Given the description of an element on the screen output the (x, y) to click on. 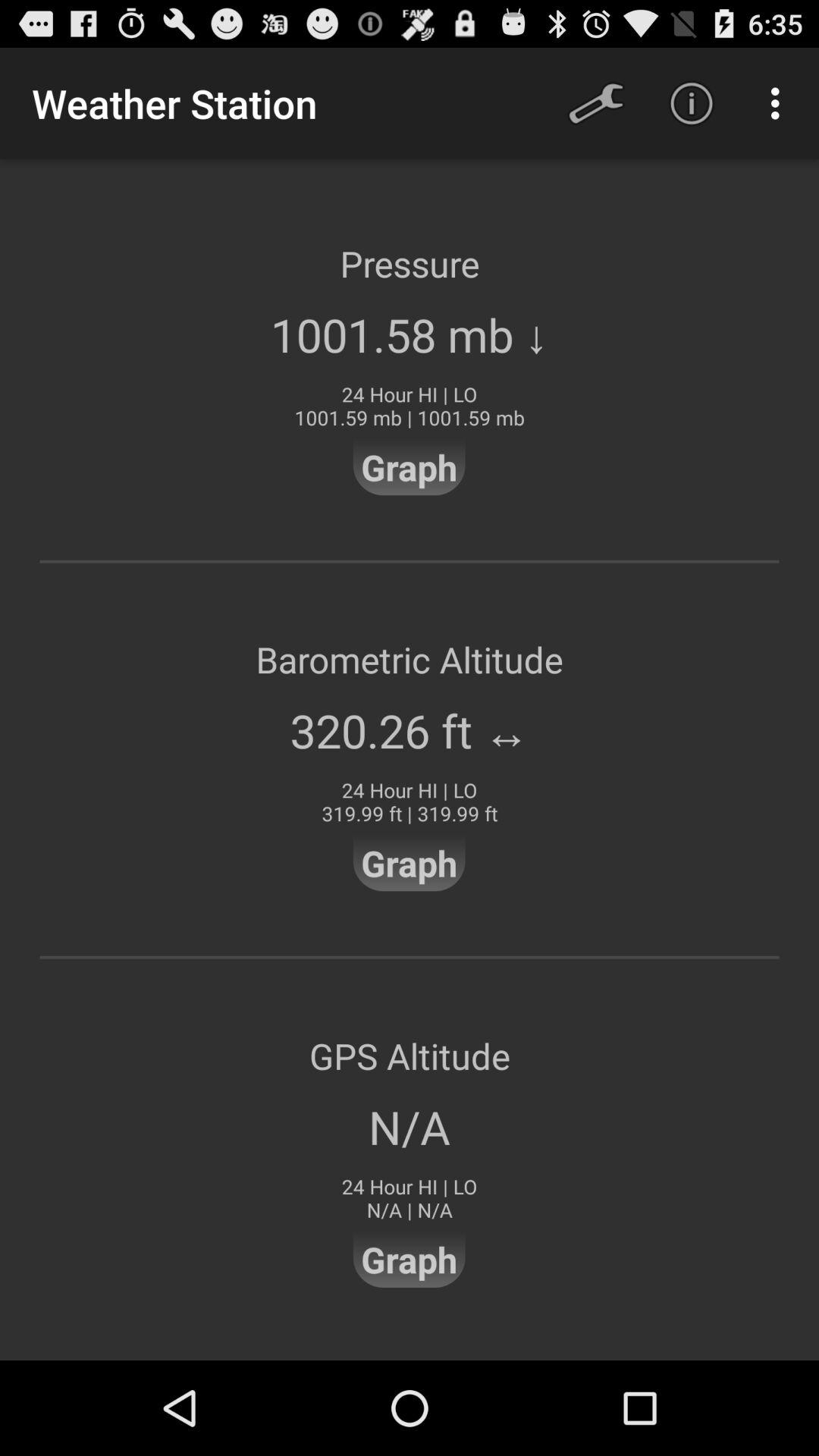
press the item above pressure app (691, 103)
